Given the description of an element on the screen output the (x, y) to click on. 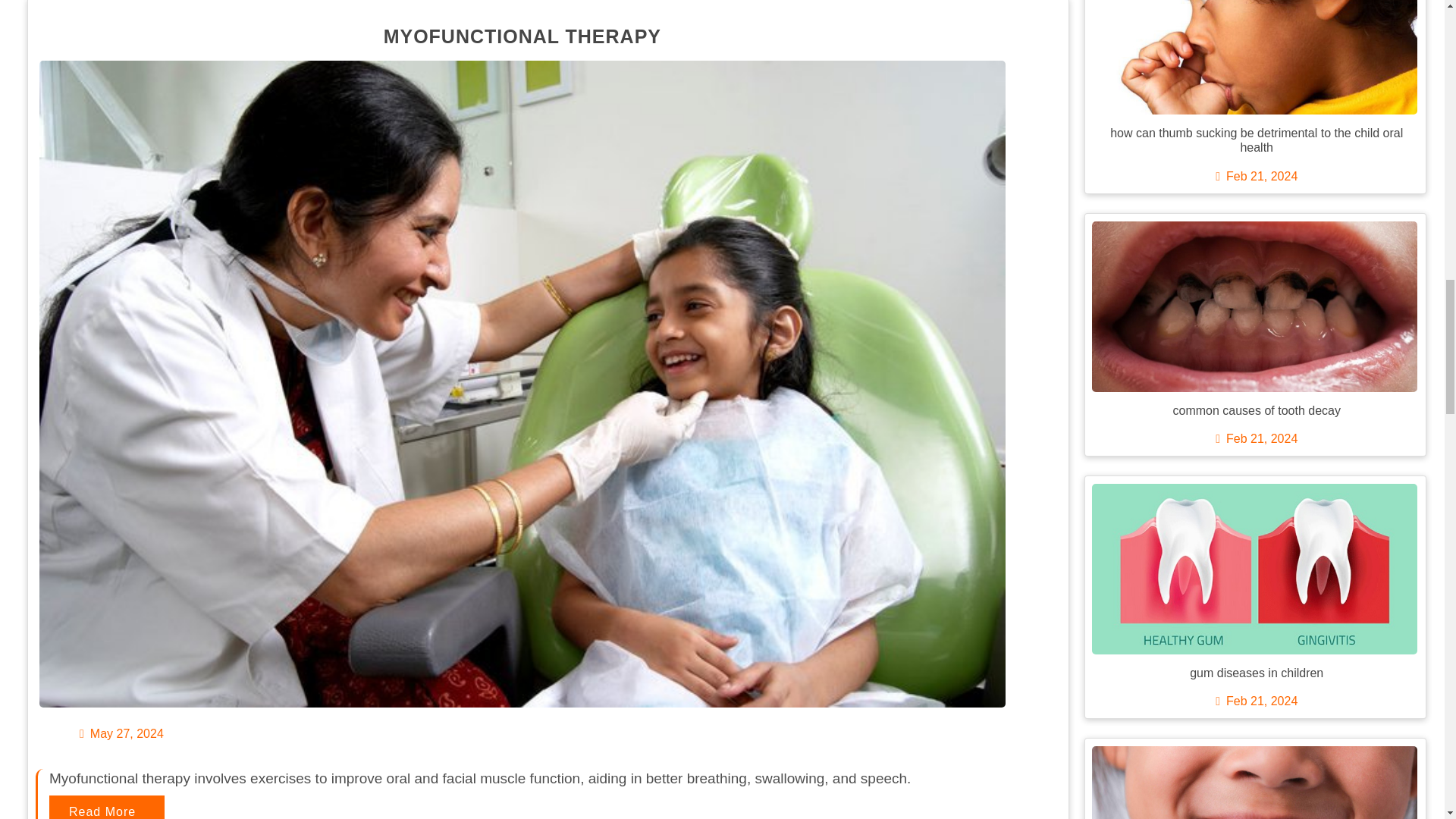
MYOFUNCTIONAL THERAPY (522, 35)
